Given the description of an element on the screen output the (x, y) to click on. 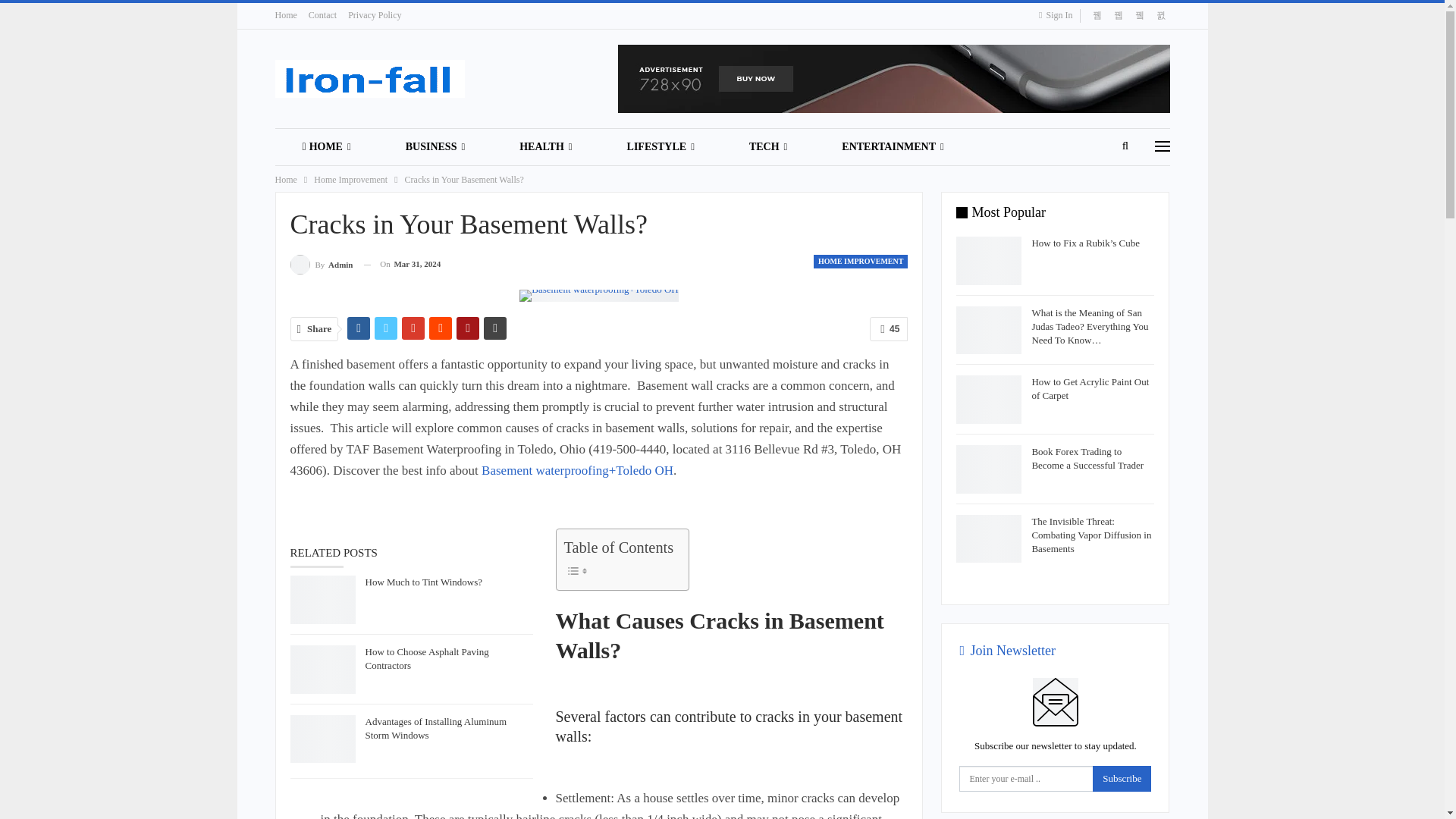
How Much to Tint Windows? (322, 599)
BUSINESS (435, 146)
How to Choose Asphalt Paving Contractors (322, 669)
TECH (767, 146)
Advantages of Installing Aluminum Storm Windows (322, 738)
Home (286, 14)
HOME (326, 146)
Sign In (1058, 14)
HEALTH (545, 146)
LIFESTYLE (660, 146)
Contact (322, 14)
Browse Author Articles (320, 263)
Privacy Policy (374, 14)
